Given the description of an element on the screen output the (x, y) to click on. 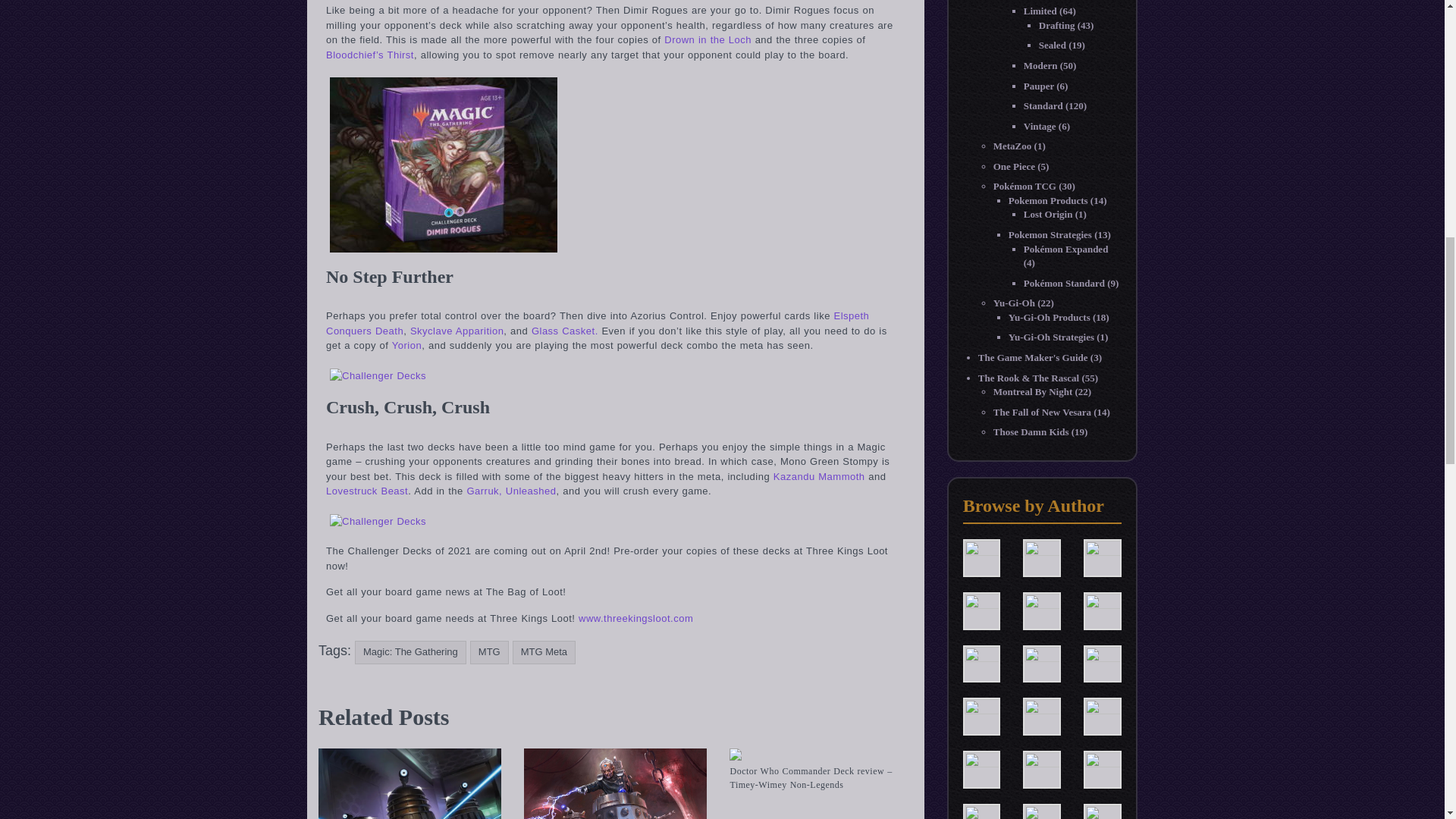
Jonathan (981, 715)
Yorion (406, 345)
www.threekingsloot.com (635, 618)
Joshua Olsen (1042, 715)
Norman Fried (981, 817)
MTG (489, 652)
MTG Meta (543, 652)
Evan, Chewer of Thoughts (981, 662)
Kyle A Massa (1102, 715)
Drown in the Loch (707, 39)
Mike Carrozza (1102, 767)
Professor Bamboo (1042, 817)
Lovestruck Beast (366, 490)
Gerald Knight (1042, 662)
Magic: The Gathering (410, 652)
